Given the description of an element on the screen output the (x, y) to click on. 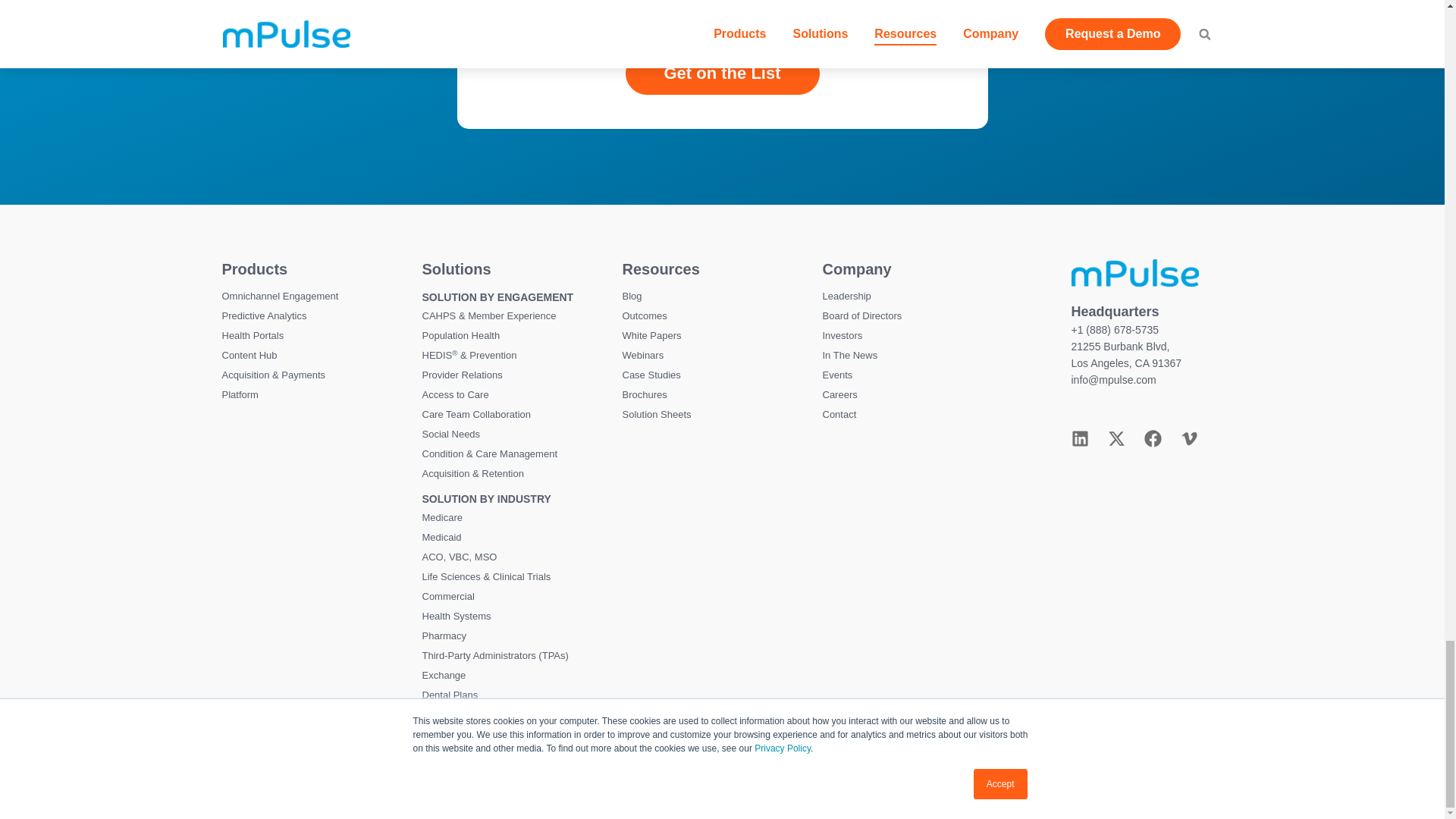
Get on the List (721, 73)
